Given the description of an element on the screen output the (x, y) to click on. 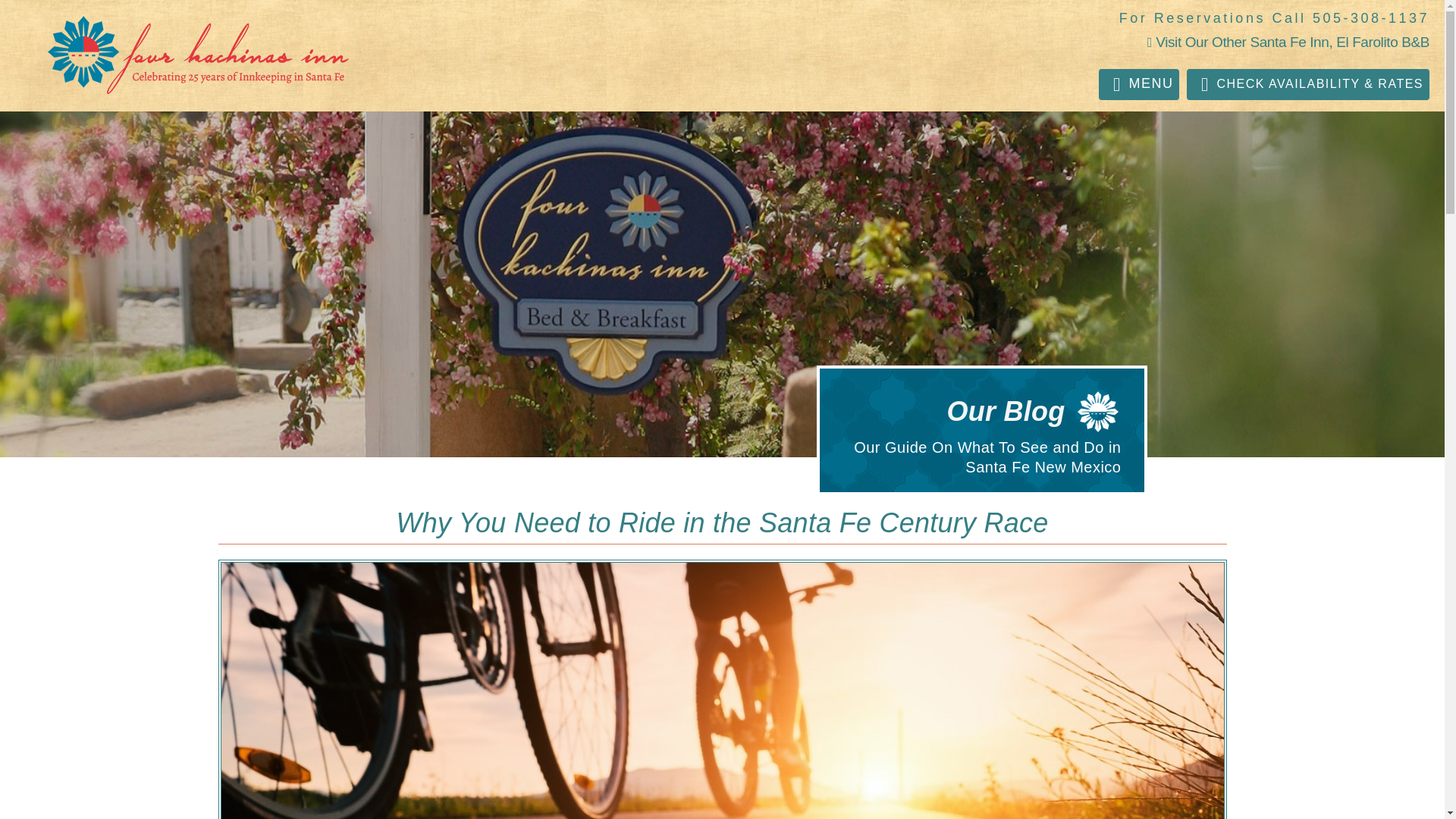
MENU (1139, 83)
For Reservations Call 505-308-1137 (1274, 18)
